Given the description of an element on the screen output the (x, y) to click on. 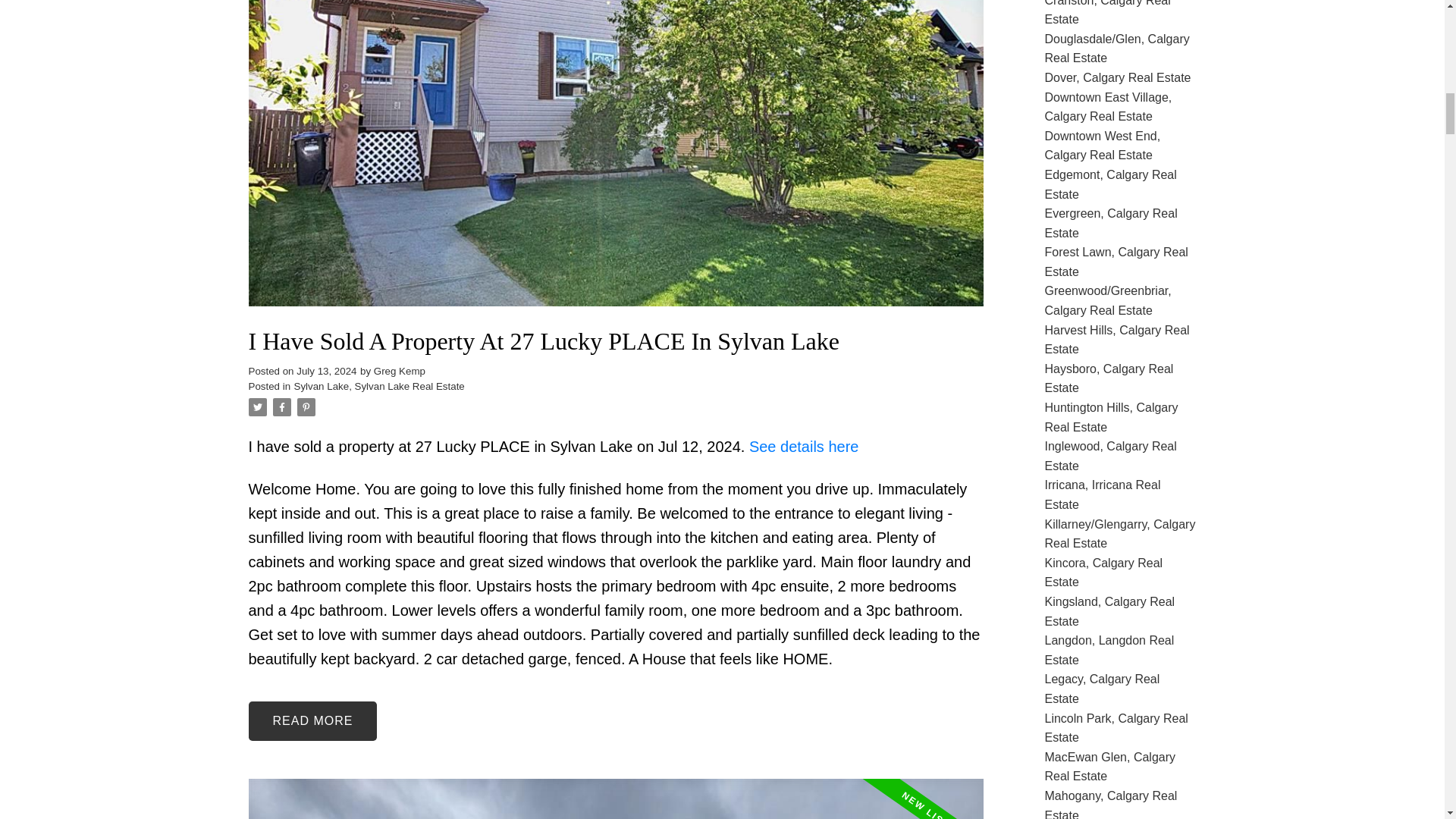
READ (312, 721)
See details here (804, 446)
Read full post (616, 798)
Sylvan Lake, Sylvan Lake Real Estate (379, 386)
I Have Sold A Property At 27 Lucky PLACE In Sylvan Lake (616, 341)
